Given the description of an element on the screen output the (x, y) to click on. 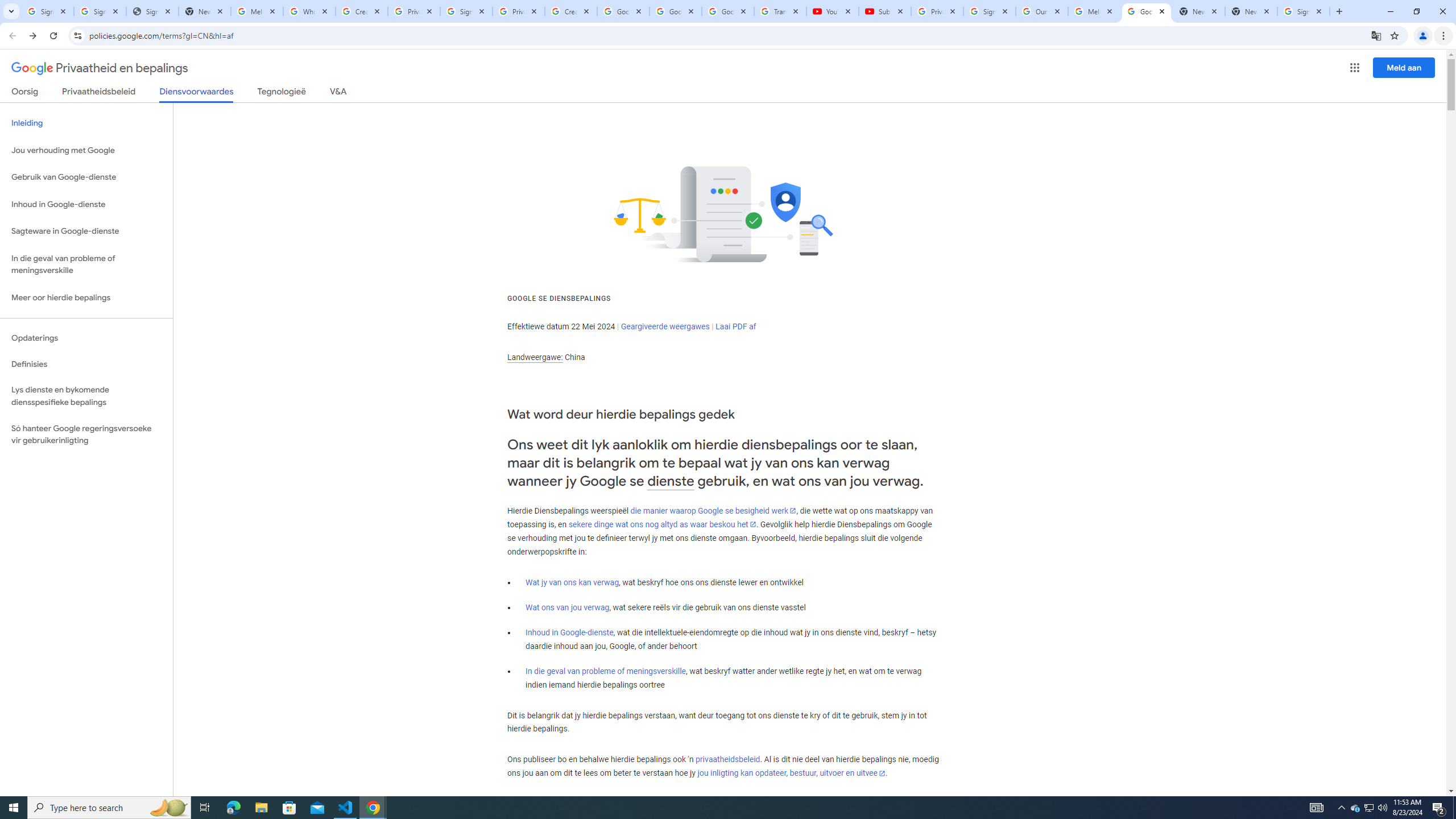
Wat jy van ons kan verwag (571, 582)
Meer oor hierdie bepalings (86, 298)
Sign in - Google Accounts (989, 11)
Landweergawe: (534, 357)
Jou verhouding met Google (86, 150)
Google Account (727, 11)
YouTube (831, 11)
Create your Google Account (361, 11)
Opdaterings (86, 338)
